Given the description of an element on the screen output the (x, y) to click on. 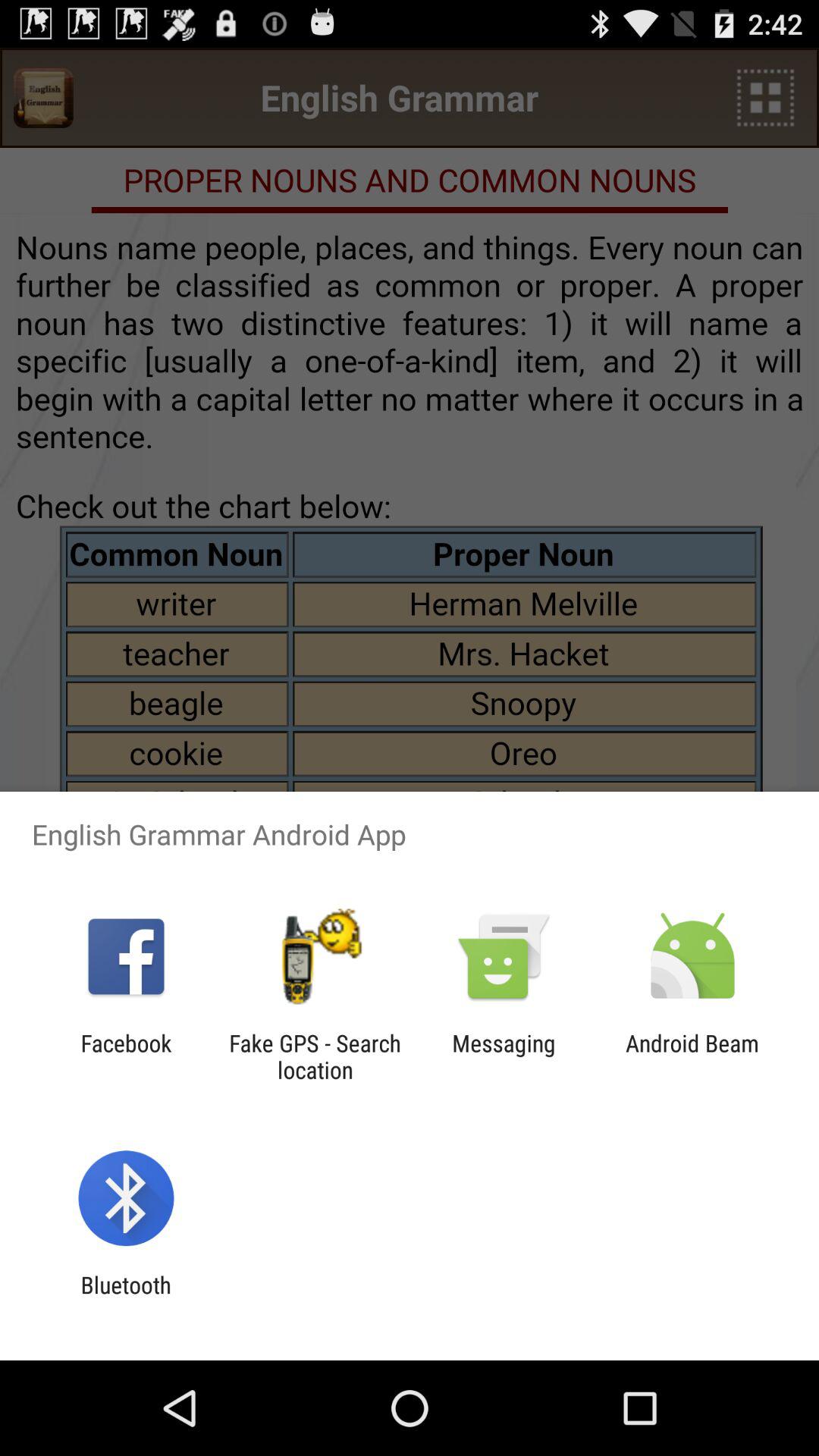
turn off the icon to the left of fake gps search (125, 1056)
